Given the description of an element on the screen output the (x, y) to click on. 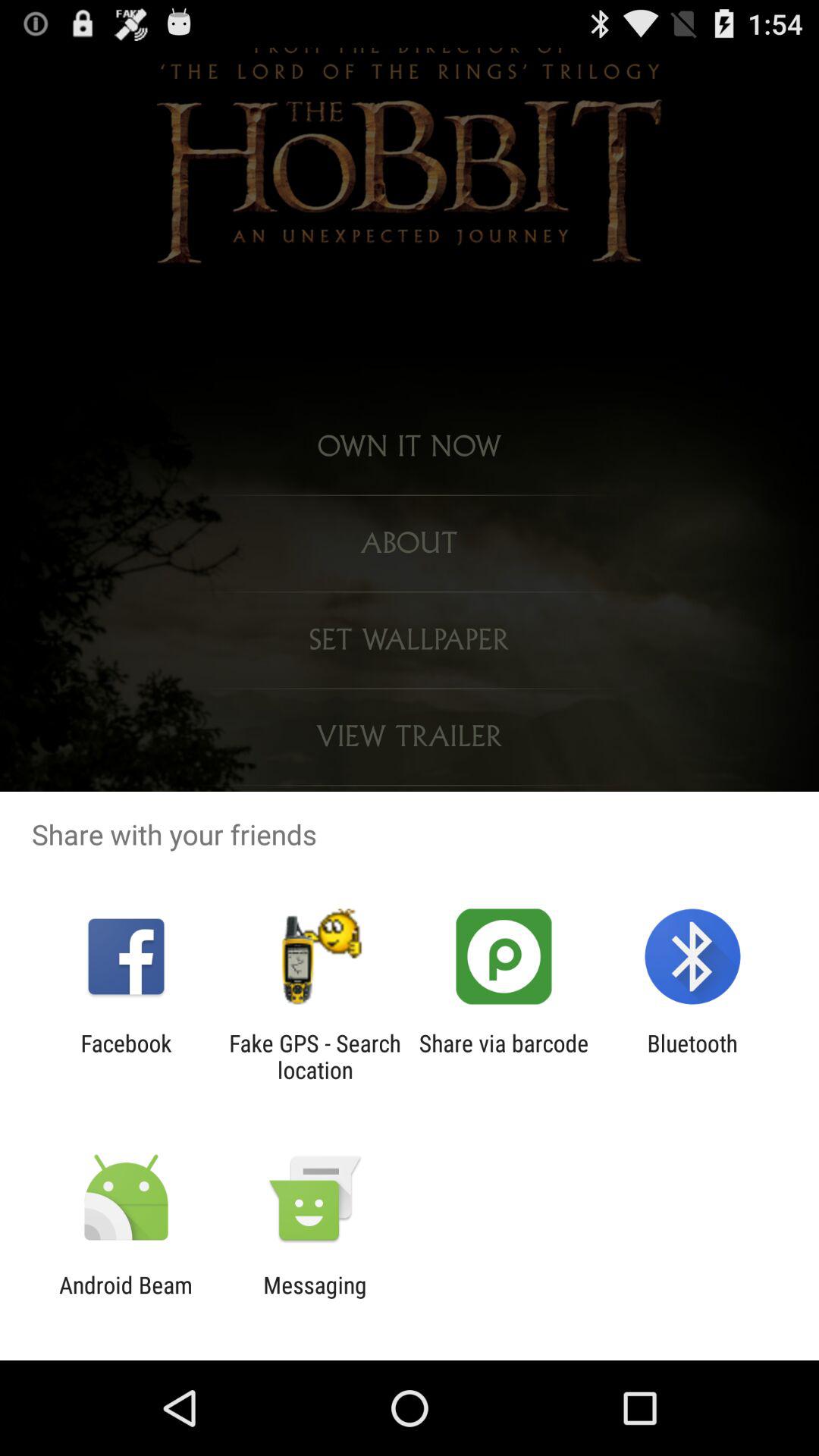
scroll until the messaging icon (314, 1298)
